Given the description of an element on the screen output the (x, y) to click on. 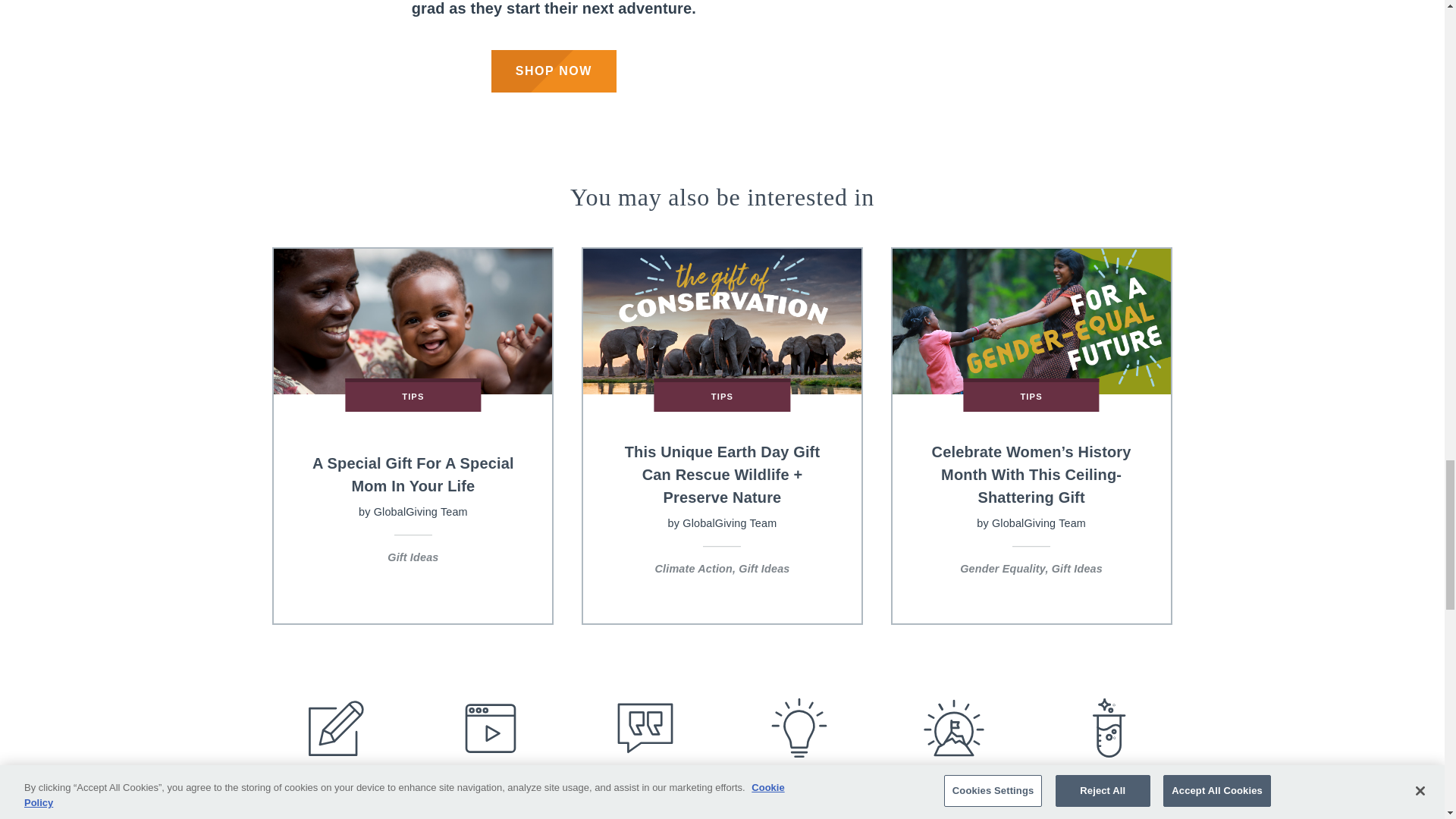
Posts by GlobalGiving Team (420, 511)
Posts by GlobalGiving Team (1038, 522)
Posts by GlobalGiving Team (729, 522)
